Given the description of an element on the screen output the (x, y) to click on. 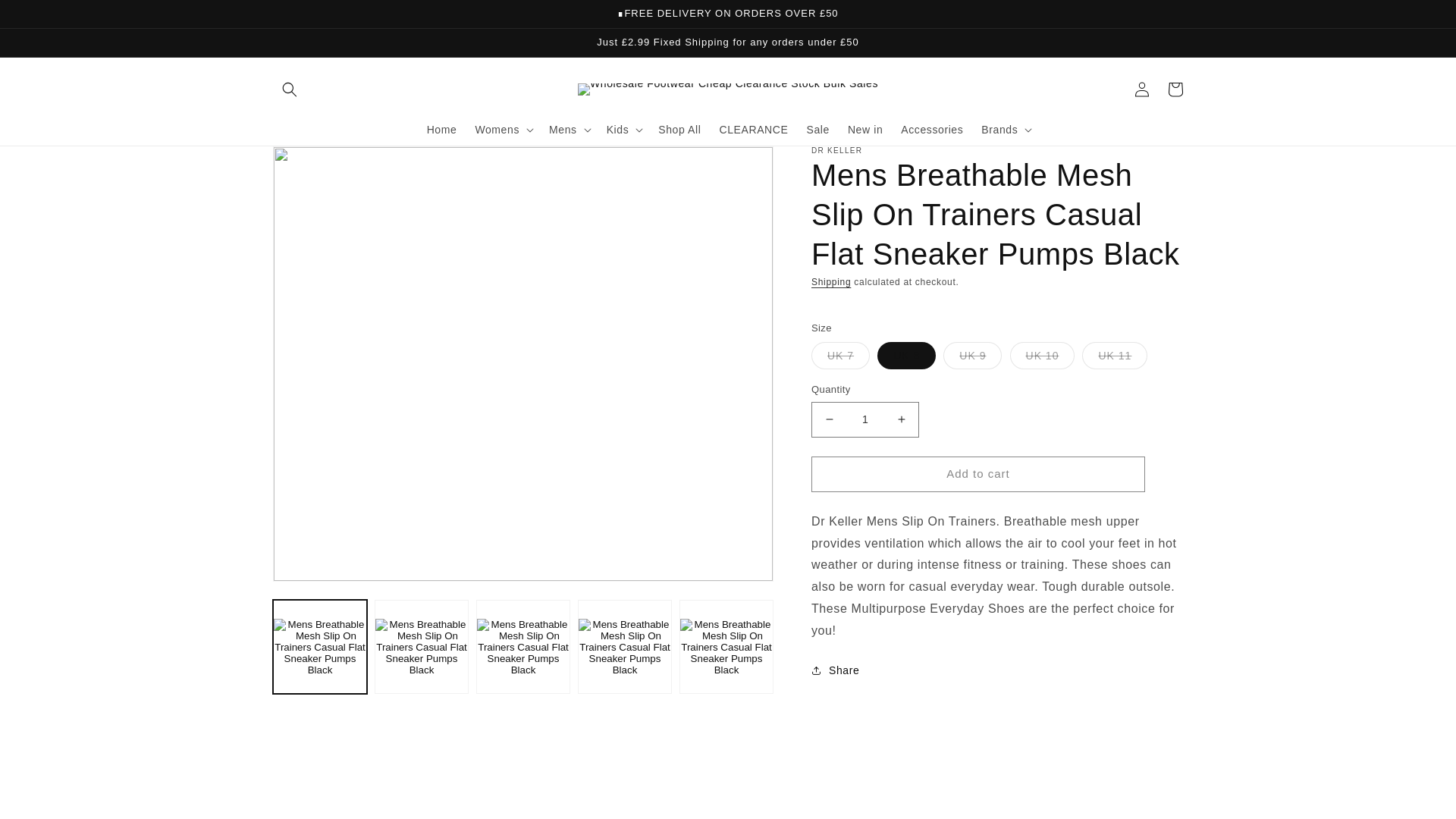
Skip to content (45, 17)
1 (864, 419)
